Given the description of an element on the screen output the (x, y) to click on. 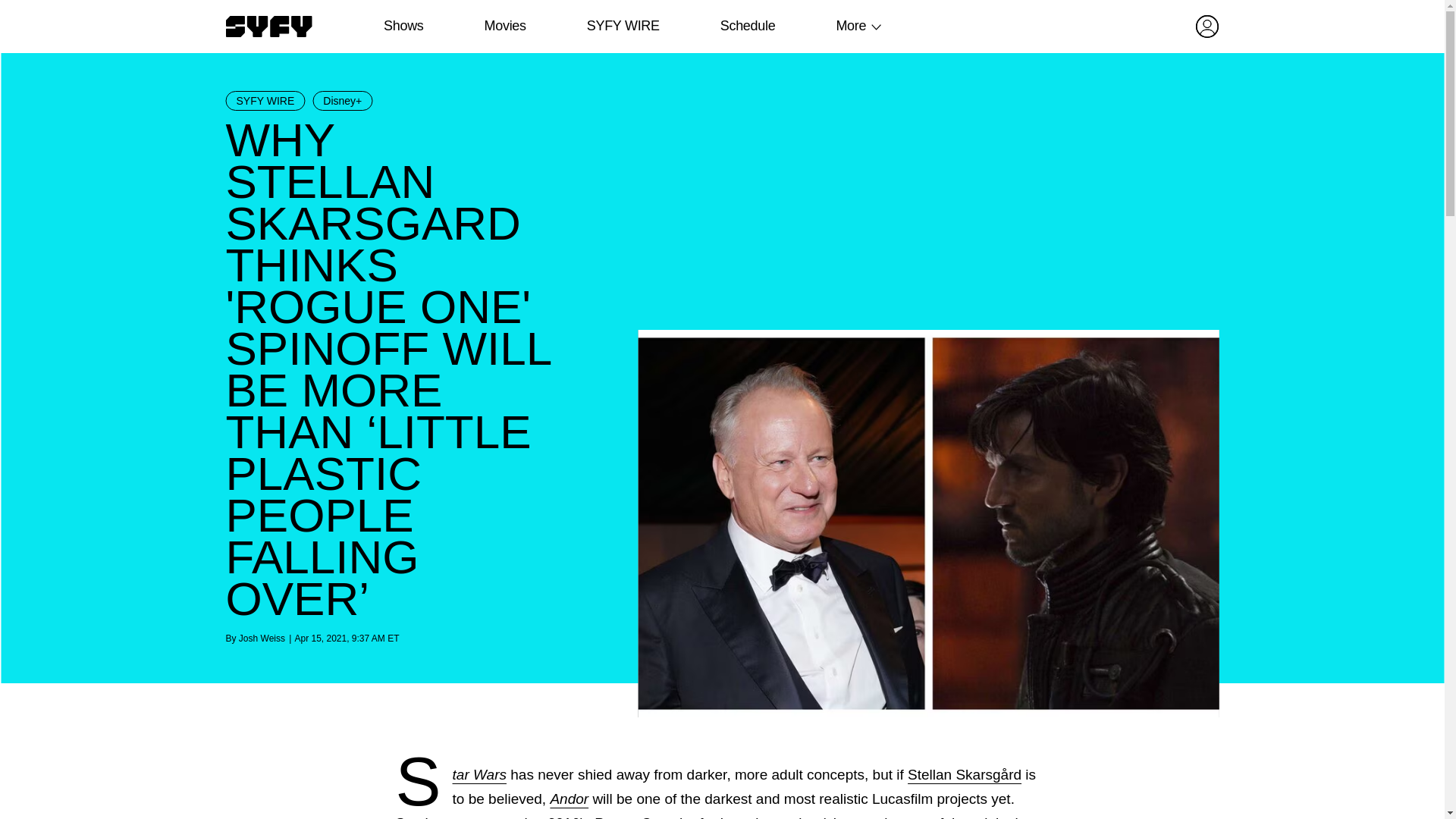
Rogue One (630, 816)
SYFY WIRE (265, 100)
Star Wars (479, 774)
More (850, 26)
SYFY WIRE (622, 26)
Andor (569, 798)
Movies (504, 26)
Shows (403, 26)
Josh Weiss (261, 638)
